Given the description of an element on the screen output the (x, y) to click on. 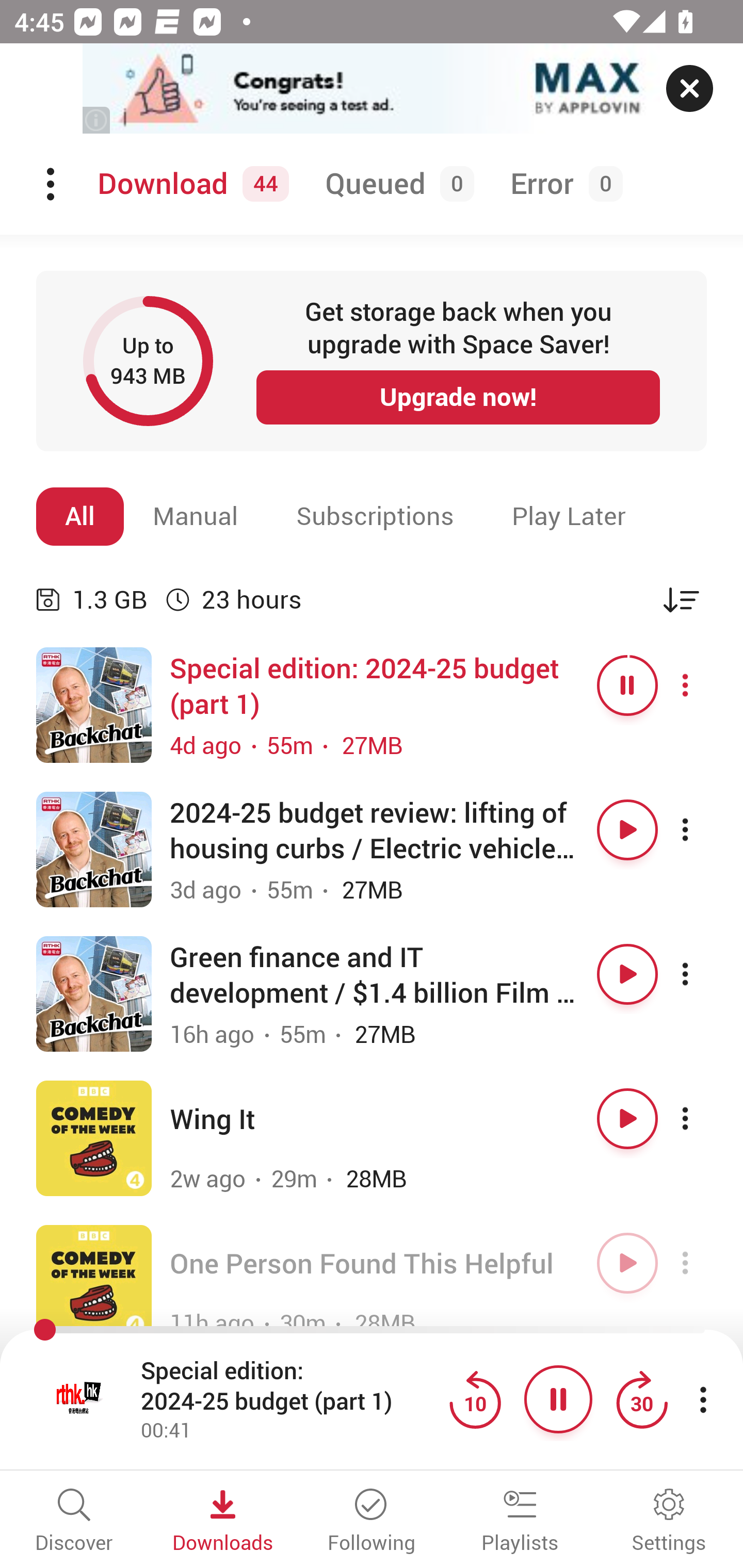
app-monetization (371, 88)
(i) (96, 119)
Menu (52, 184)
 Download 44 (189, 184)
 Queued 0 (396, 184)
 Error 0 (562, 184)
All (80, 516)
Manual (195, 516)
Subscriptions (374, 516)
Play Later (568, 516)
Change sort order (681, 599)
Pause button (627, 685)
More options (703, 685)
Open series Backchat (93, 705)
Play button (627, 830)
More options (703, 830)
Open series Backchat (93, 849)
Play button (627, 974)
More options (703, 974)
Open series Backchat (93, 994)
Play button (627, 1118)
More options (703, 1118)
Open series Comedy of the Week (93, 1138)
Play button (627, 1263)
More options (703, 1263)
Open series Comedy of the Week (93, 1282)
Open fullscreen player (79, 1399)
More player controls (703, 1399)
Special edition: 2024-25 budget (part 1) (290, 1385)
Pause button (558, 1398)
Jump back (475, 1399)
Jump forward (641, 1399)
Discover (74, 1521)
Downloads (222, 1521)
Following (371, 1521)
Playlists (519, 1521)
Settings (668, 1521)
